Given the description of an element on the screen output the (x, y) to click on. 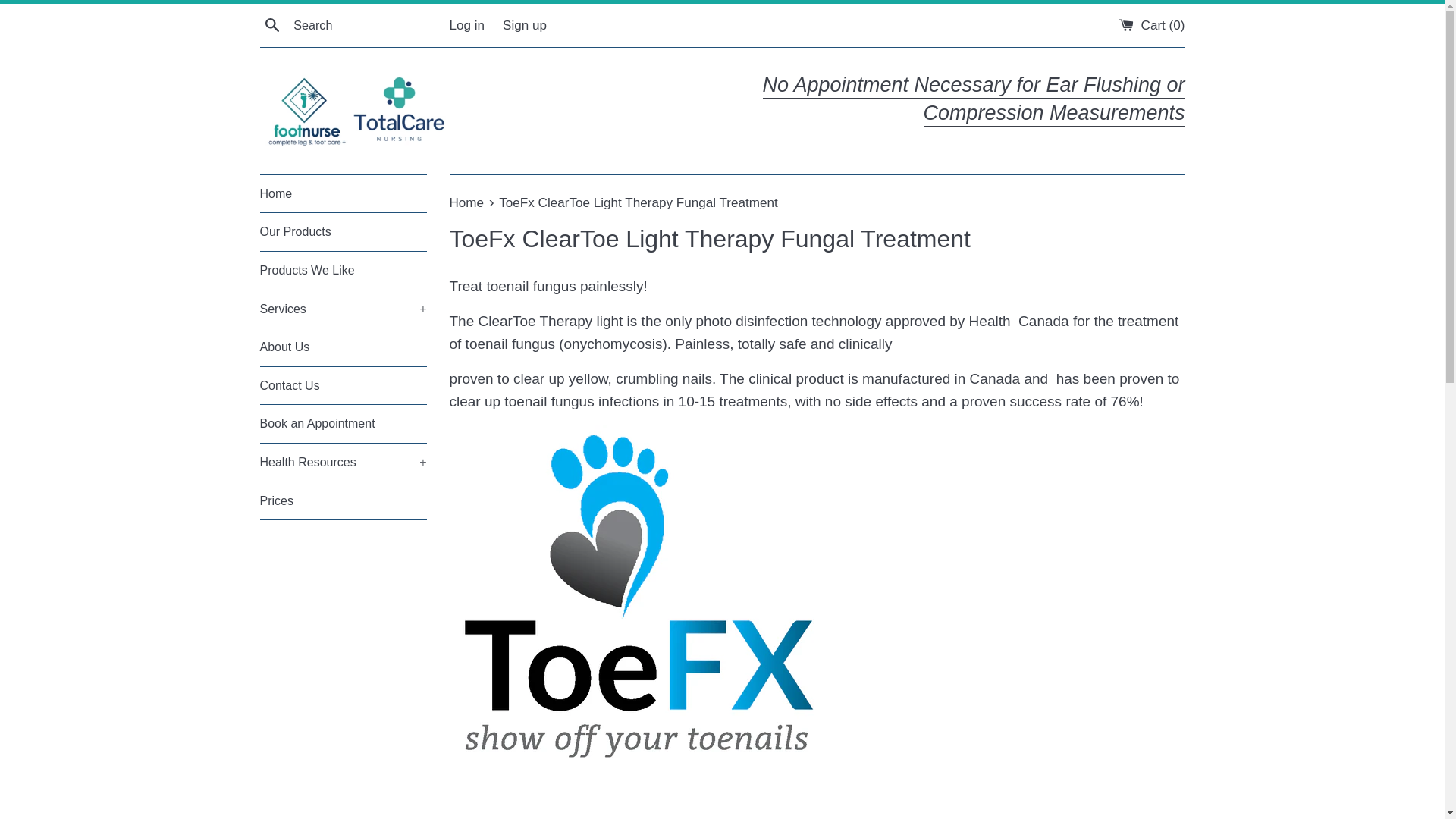
Prices (342, 501)
Log in (466, 25)
Book an Appointment (342, 423)
Sign up (524, 25)
Products We Like (342, 270)
About Us (342, 347)
Home (467, 202)
Our Products (342, 231)
Search (271, 24)
Contact Us (342, 385)
